Given the description of an element on the screen output the (x, y) to click on. 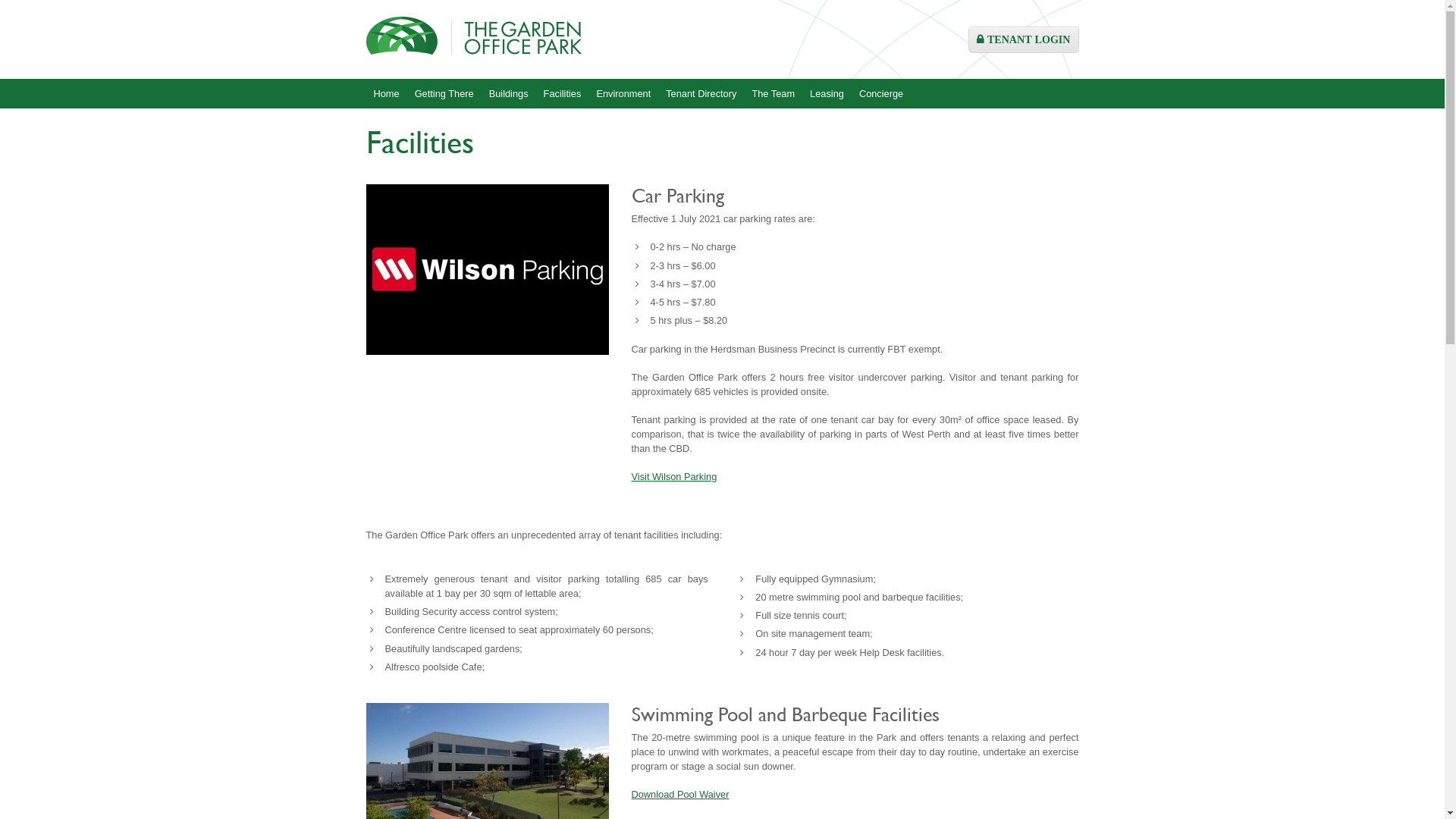
Facilities Element type: text (562, 93)
Tenant Directory Element type: text (700, 93)
Wilson Parking Element type: hover (486, 269)
Buildings Element type: text (508, 93)
The Garden Office Park Element type: hover (472, 71)
Leasing Element type: text (826, 93)
The Garden Office Park Element type: hover (472, 35)
Environment Element type: text (623, 93)
The Team Element type: text (772, 93)
Visit Wilson Parking Element type: text (673, 476)
Home Element type: text (385, 93)
TENANT LOGIN Element type: text (1023, 39)
Download Pool Waiver Element type: text (679, 794)
Concierge Element type: text (880, 93)
Getting There Element type: text (444, 93)
